Given the description of an element on the screen output the (x, y) to click on. 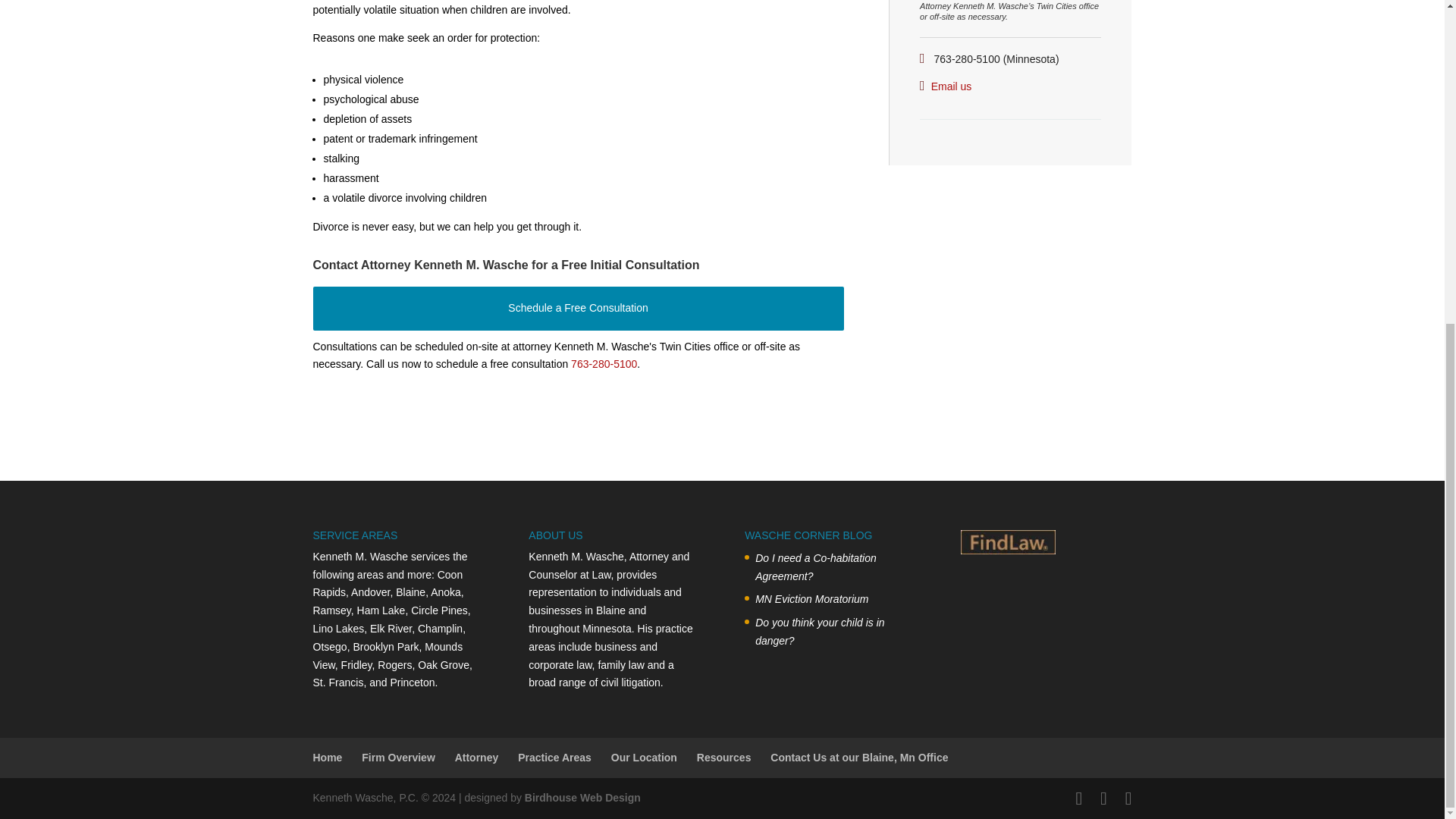
Schedule a Free Consultation (578, 308)
Contact Us at our Blaine, Mn Office (858, 757)
Birdhouse Web Design (582, 797)
Resources (724, 757)
Do you think your child is in danger? (834, 632)
Email us (951, 86)
MN Eviction Moratorium (834, 599)
Firm Overview (398, 757)
Our Location (644, 757)
Practice Areas (554, 757)
Attorney (476, 757)
Do I need a Co-habitation Agreement? (834, 567)
Home (327, 757)
763-280-5100 (603, 363)
